Given the description of an element on the screen output the (x, y) to click on. 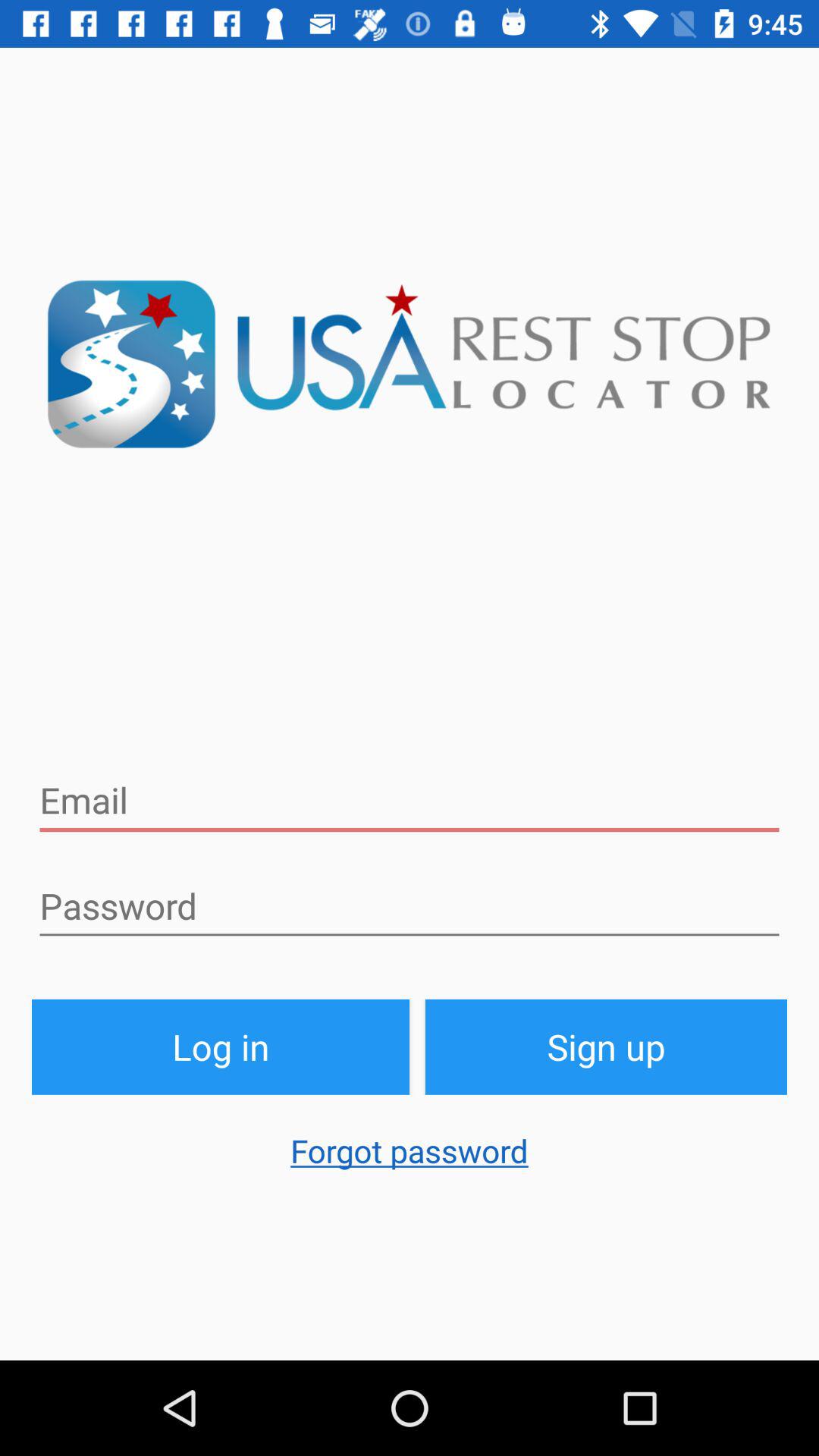
enter password (409, 906)
